Given the description of an element on the screen output the (x, y) to click on. 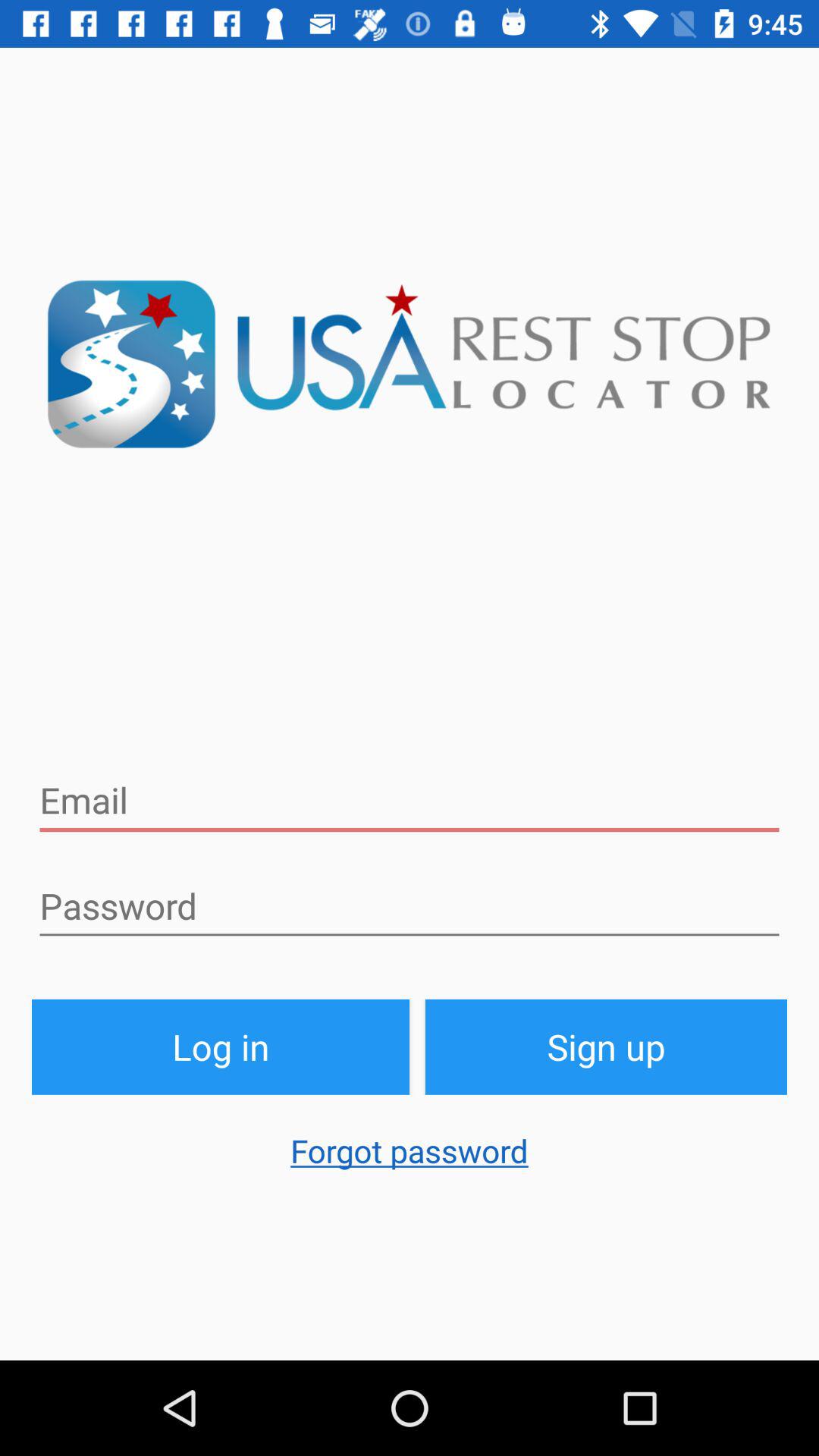
enter password (409, 906)
